Given the description of an element on the screen output the (x, y) to click on. 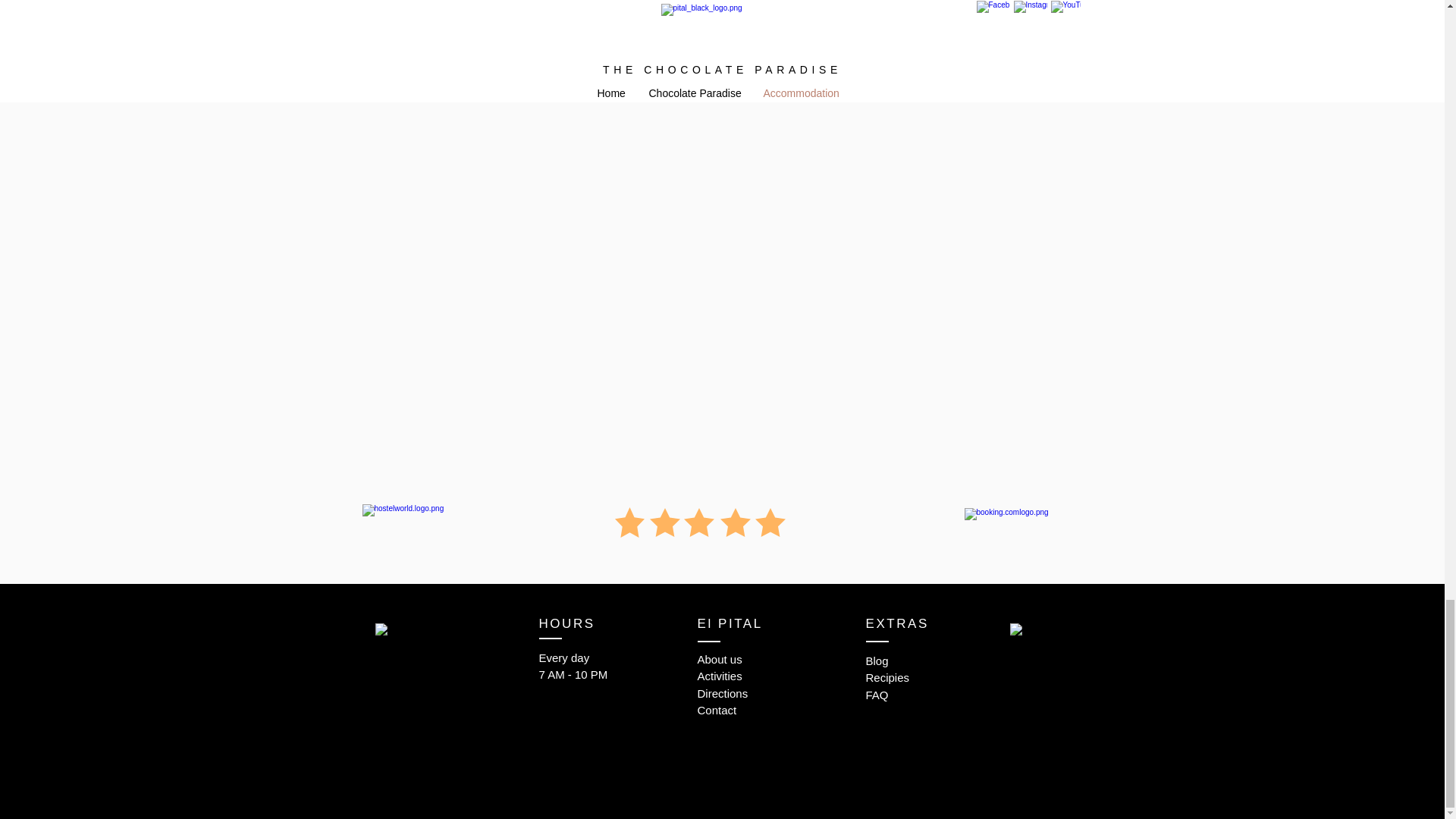
Blog (877, 660)
FAQ (877, 694)
Recipies (888, 676)
Activities (719, 675)
Every day (563, 657)
About us (719, 658)
Directions (722, 693)
Contact (716, 709)
